Given the description of an element on the screen output the (x, y) to click on. 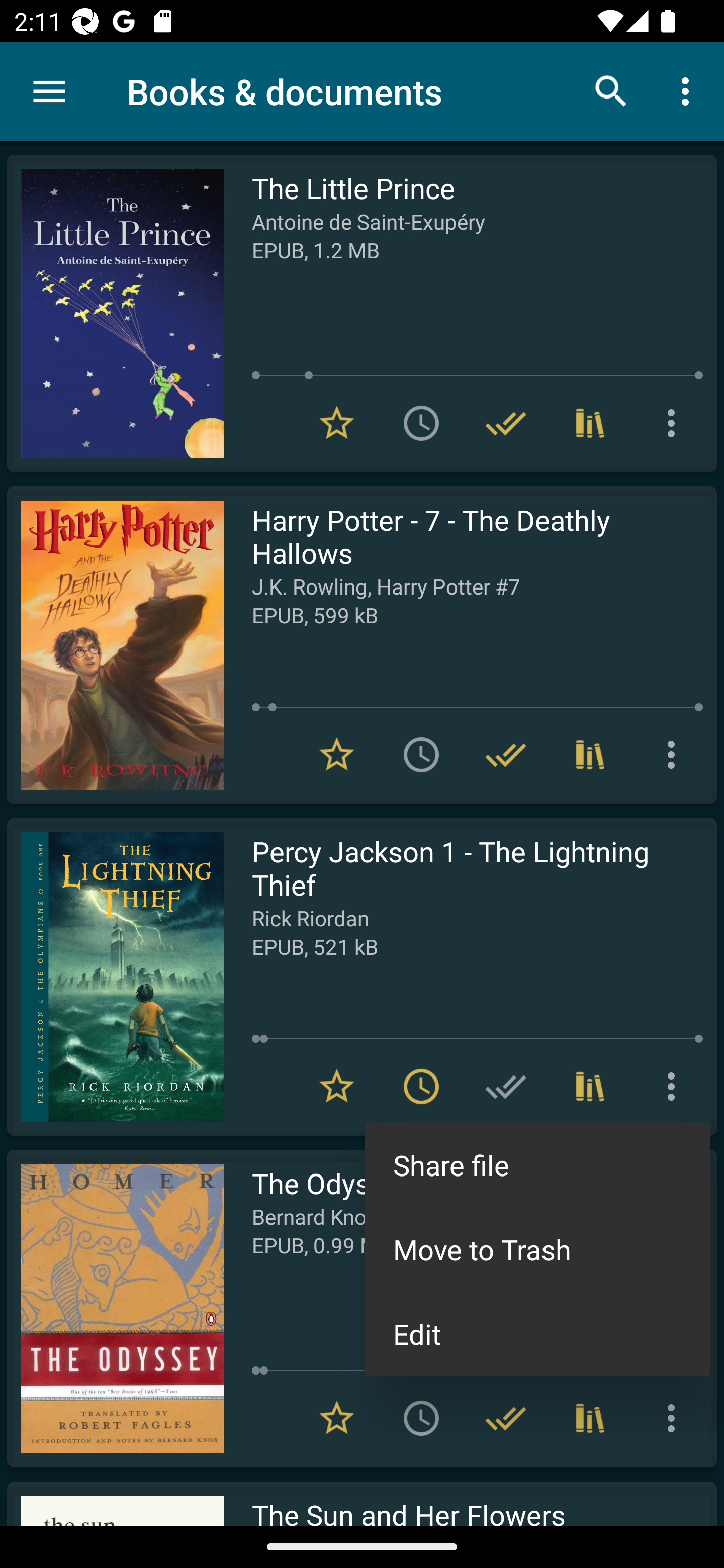
Share file (537, 1164)
Move to Trash (537, 1249)
Edit (537, 1334)
